Given the description of an element on the screen output the (x, y) to click on. 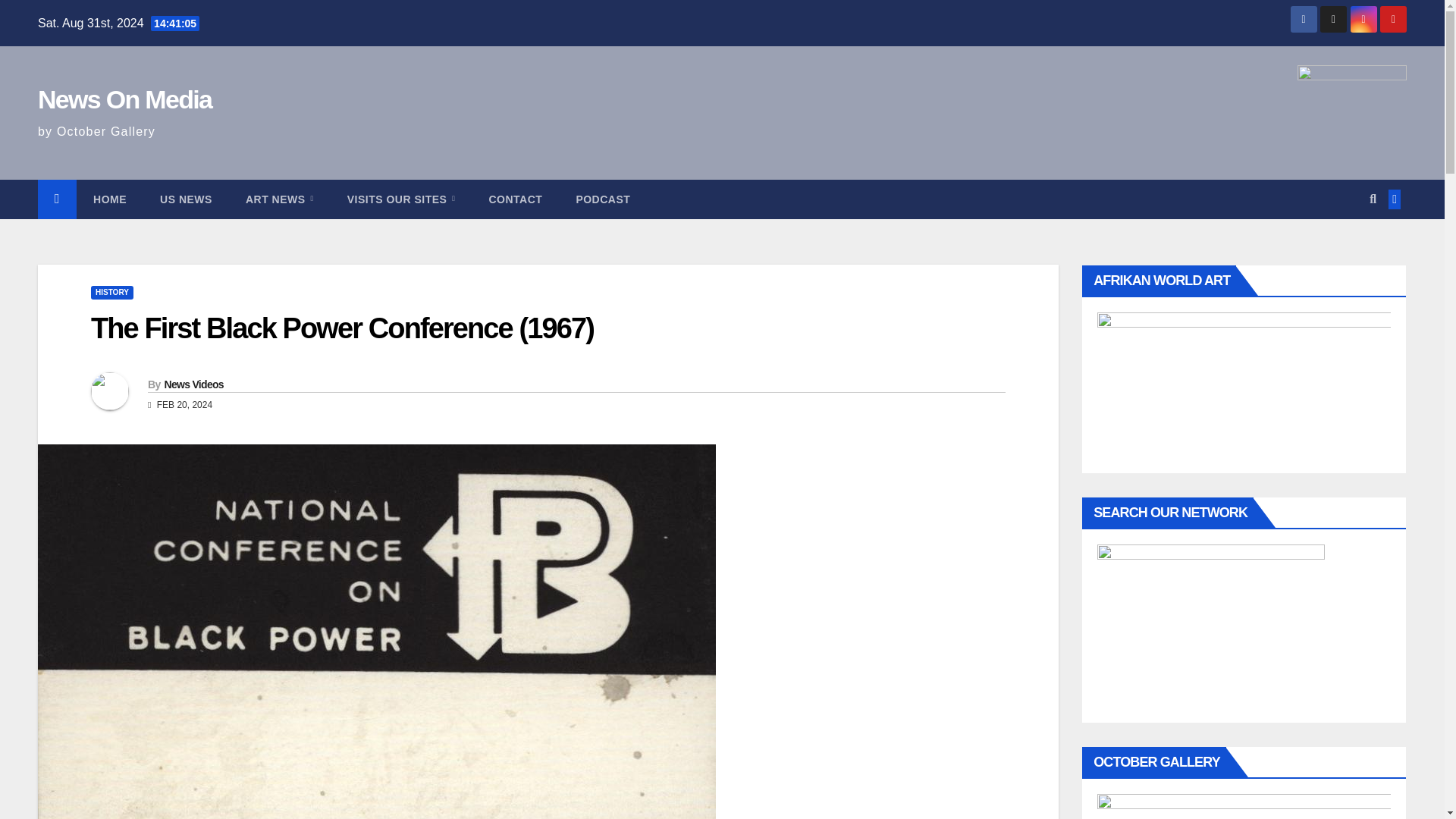
HISTORY (111, 292)
ART NEWS (279, 199)
News On Media (124, 99)
US NEWS (185, 199)
CONTACT (515, 199)
VISITS OUR SITES (400, 199)
US News (185, 199)
Visits Our Sites (400, 199)
PODCAST (602, 199)
Art News (279, 199)
